Given the description of an element on the screen output the (x, y) to click on. 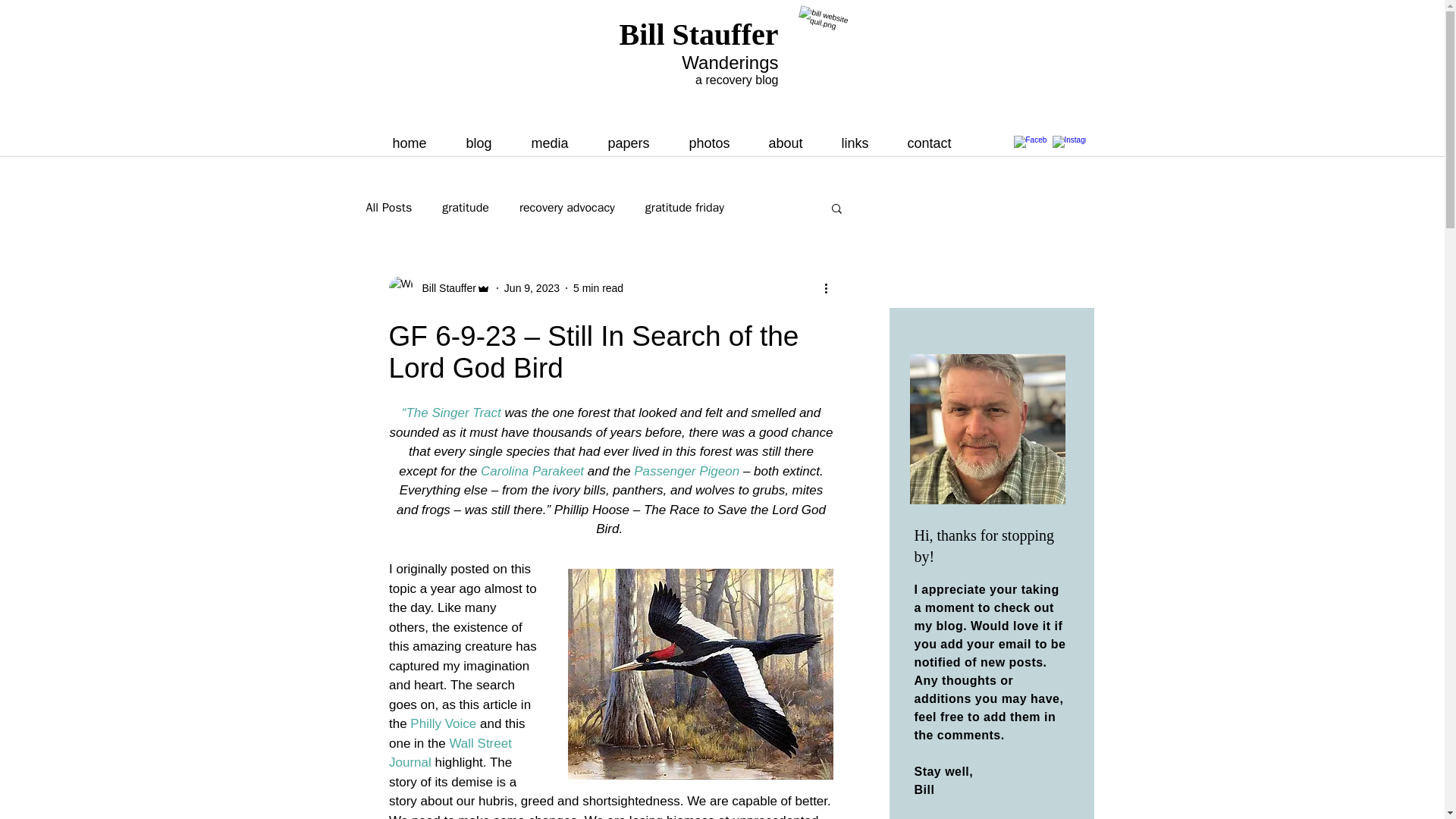
contact (937, 142)
Philly Voice (443, 723)
blog (486, 142)
links (862, 142)
home (417, 142)
recovery advocacy (566, 207)
Passenger Pigeon (686, 471)
All Posts (388, 207)
Bill Stauffer (444, 288)
photos (717, 142)
Wall Street Journal (451, 752)
about (793, 142)
Carolina Parakeet (531, 471)
media (557, 142)
Bill Stauffer (699, 34)
